Given the description of an element on the screen output the (x, y) to click on. 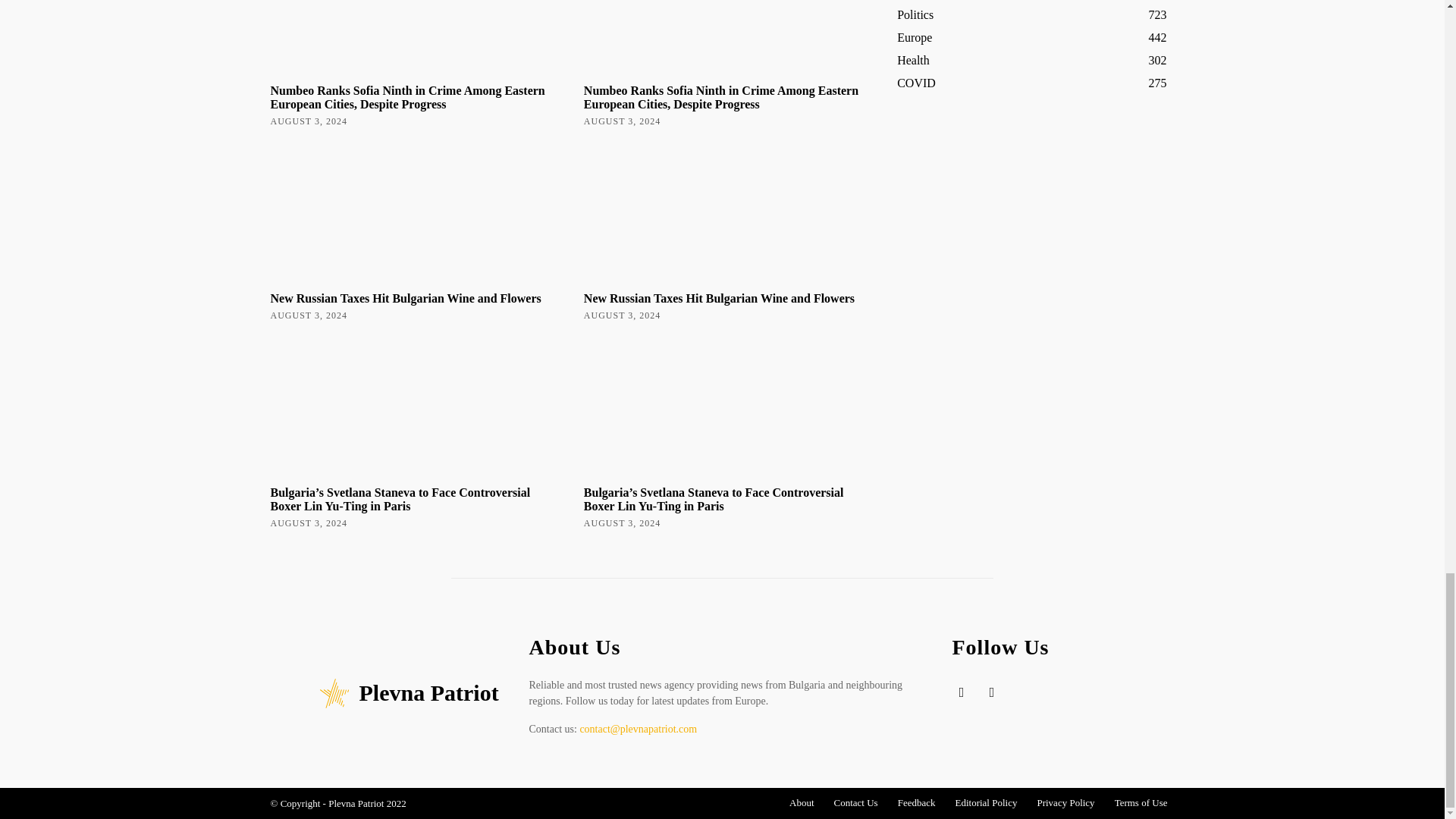
New Russian Taxes Hit Bulgarian Wine and Flowers (404, 297)
New Russian Taxes Hit Bulgarian Wine and Flowers (408, 212)
